Given the description of an element on the screen output the (x, y) to click on. 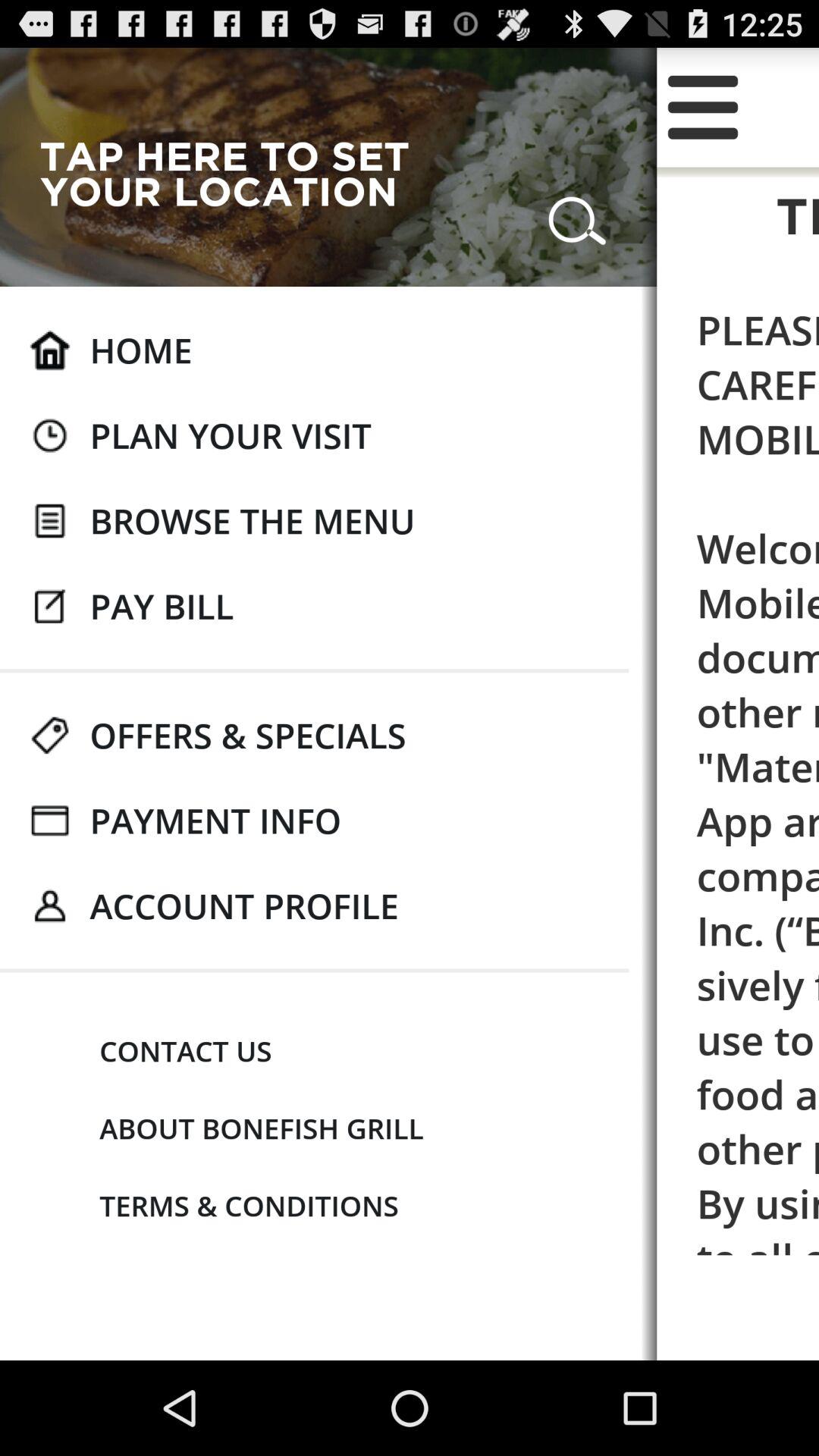
flip until plan your visit item (230, 435)
